Given the description of an element on the screen output the (x, y) to click on. 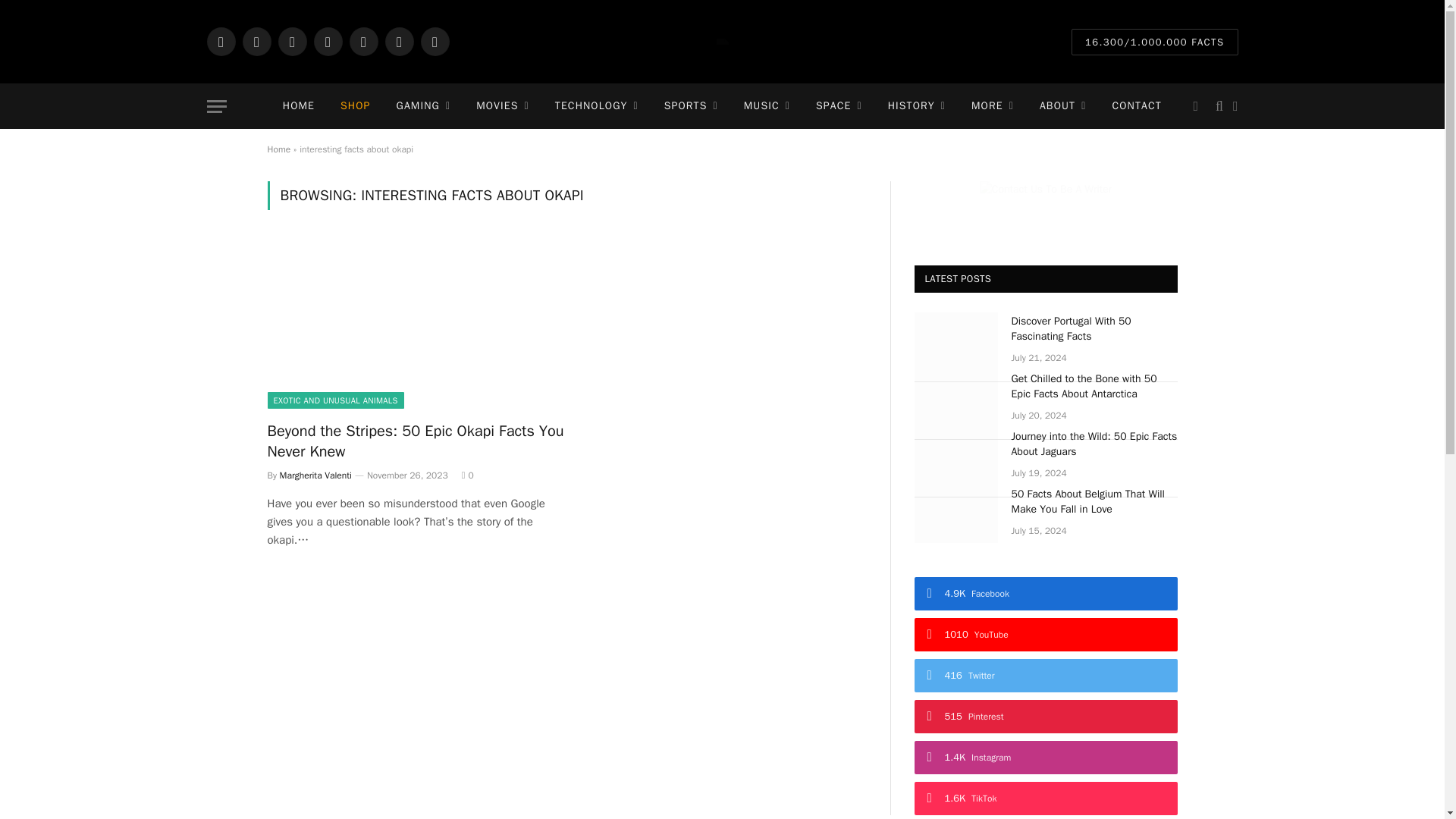
SHOP (354, 105)
Switch to Dark Design - easier on eyes. (1195, 106)
Posts by Margherita Valenti (315, 475)
MOVIES (502, 105)
Tumblr (434, 41)
TECHNOLOGY (595, 105)
TikTok (399, 41)
HOME (298, 105)
Facebook (220, 41)
GAMING (424, 105)
Instagram (328, 41)
YouTube (256, 41)
Pinterest (363, 41)
Beyond the Stripes: 50 Epic Okapi Facts You Never Knew (416, 324)
Discover Portugal With 50 Fascinating Facts (955, 341)
